Given the description of an element on the screen output the (x, y) to click on. 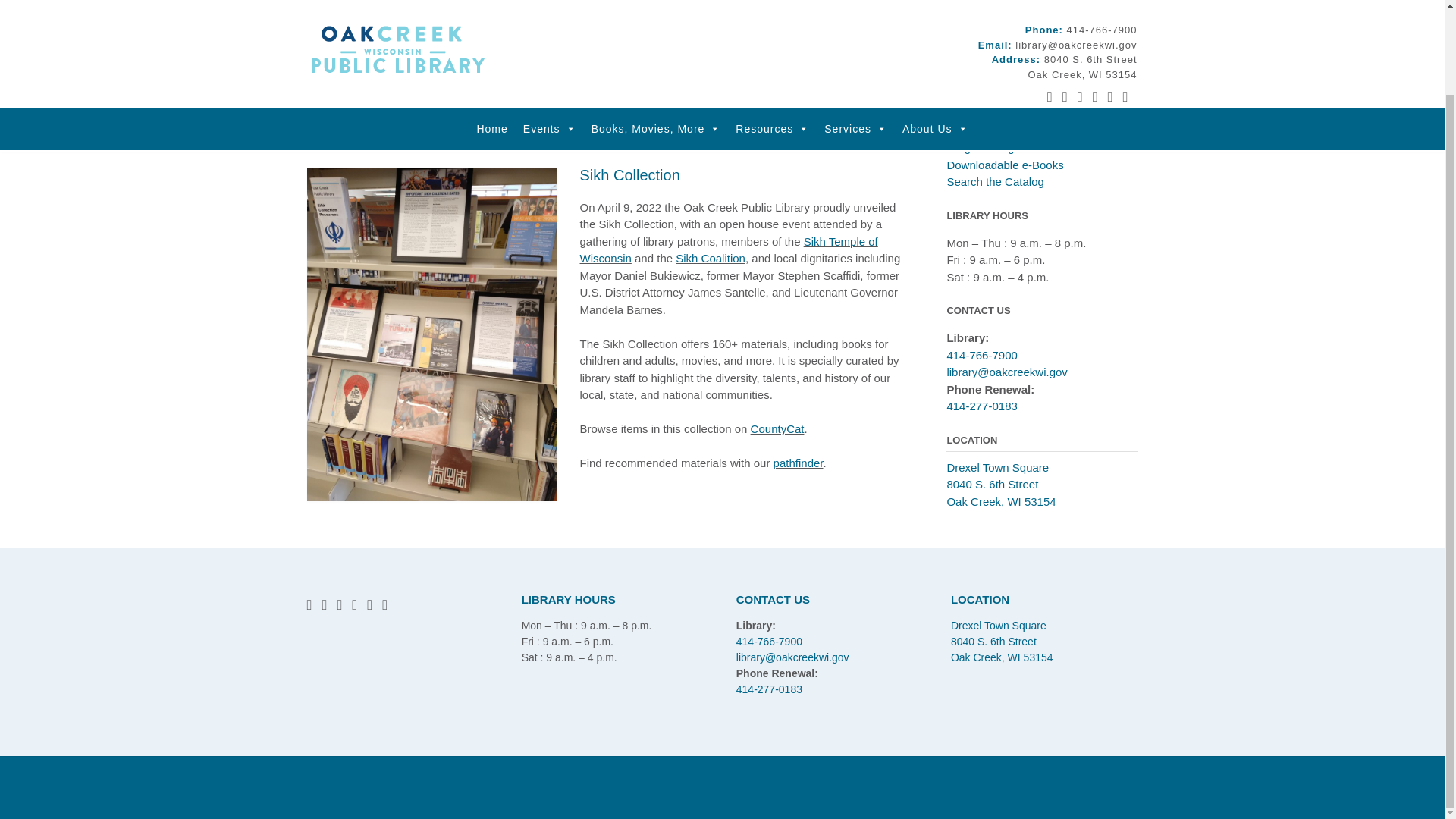
Find us on Facebook (308, 604)
Follow us on Twitter (323, 604)
Find us on Facebook (1049, 4)
Follow us on Instagram (1095, 4)
Books, Movies, More (656, 33)
Events (549, 33)
Follow us on Instagram (354, 604)
Follow us on TikTok (1125, 4)
Find us on SoundCloud (369, 604)
View our YouTube Channel (1080, 4)
Follow us on Twitter (1064, 4)
View our YouTube Channel (339, 604)
Find us on SoundCloud (1110, 4)
Home (491, 33)
